Given the description of an element on the screen output the (x, y) to click on. 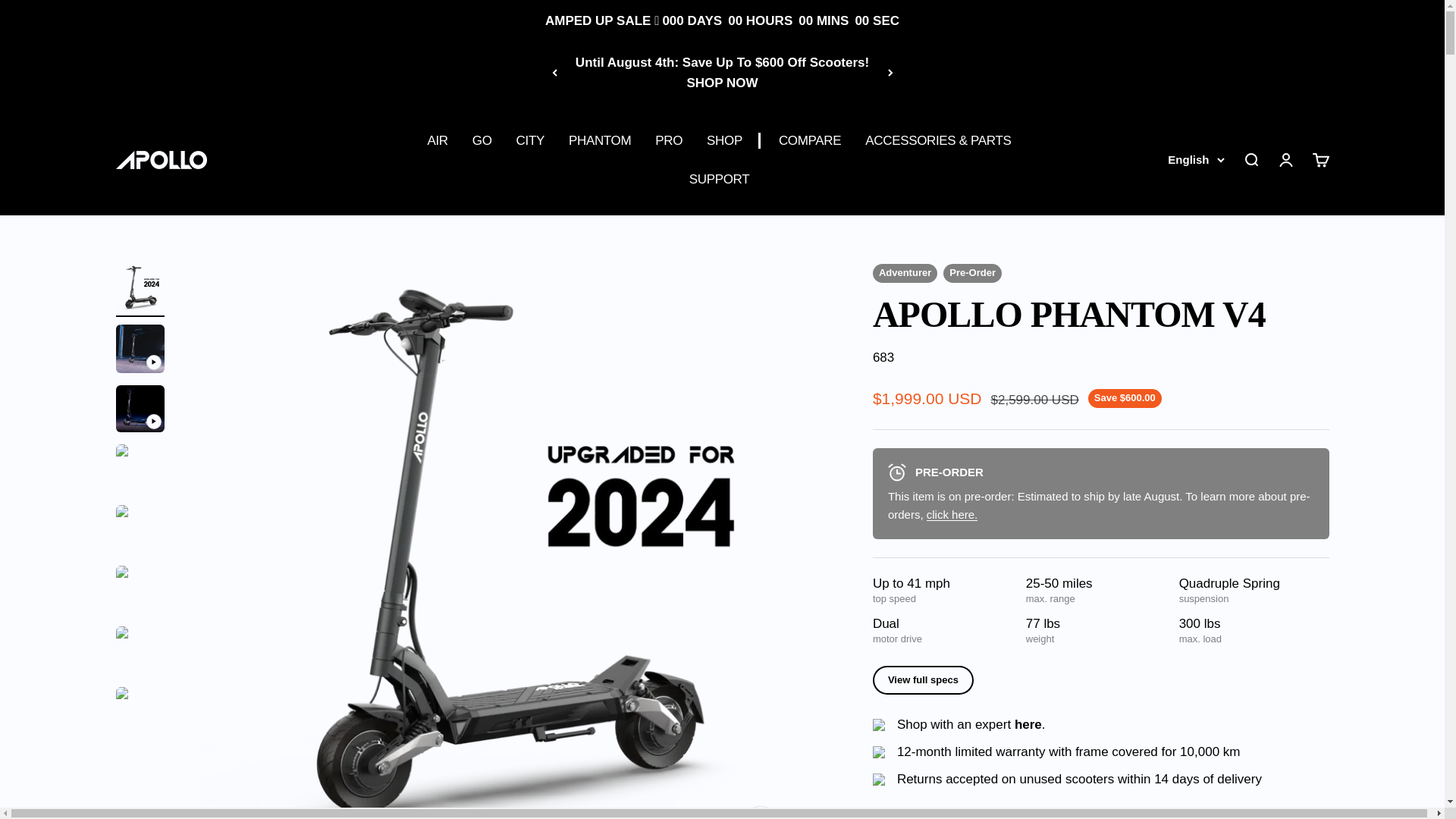
Open cart (1319, 159)
CITY (530, 140)
AIR (436, 140)
PRO (668, 140)
SUPPORT (718, 178)
SHOP (724, 140)
PHANTOM (599, 140)
GO (481, 140)
English (1195, 159)
COMPARE (809, 140)
Apollo Scooters (160, 159)
Open account page (1285, 159)
Open search (1250, 159)
